Given the description of an element on the screen output the (x, y) to click on. 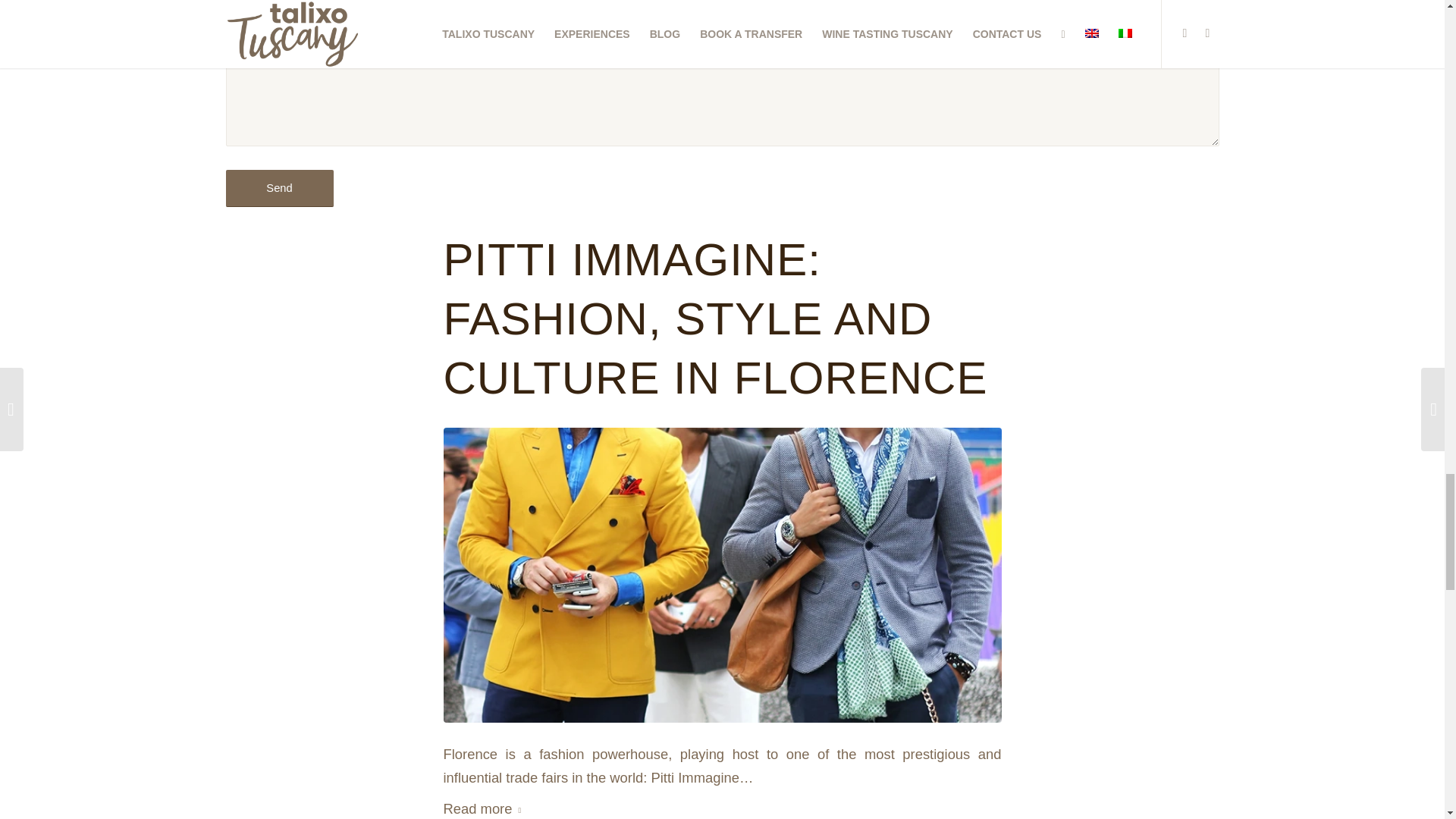
Send (279, 188)
Send (279, 188)
PITTI IMMAGINE: FASHION, STYLE AND CULTURE IN FLORENCE (714, 318)
Read more (484, 806)
